Given the description of an element on the screen output the (x, y) to click on. 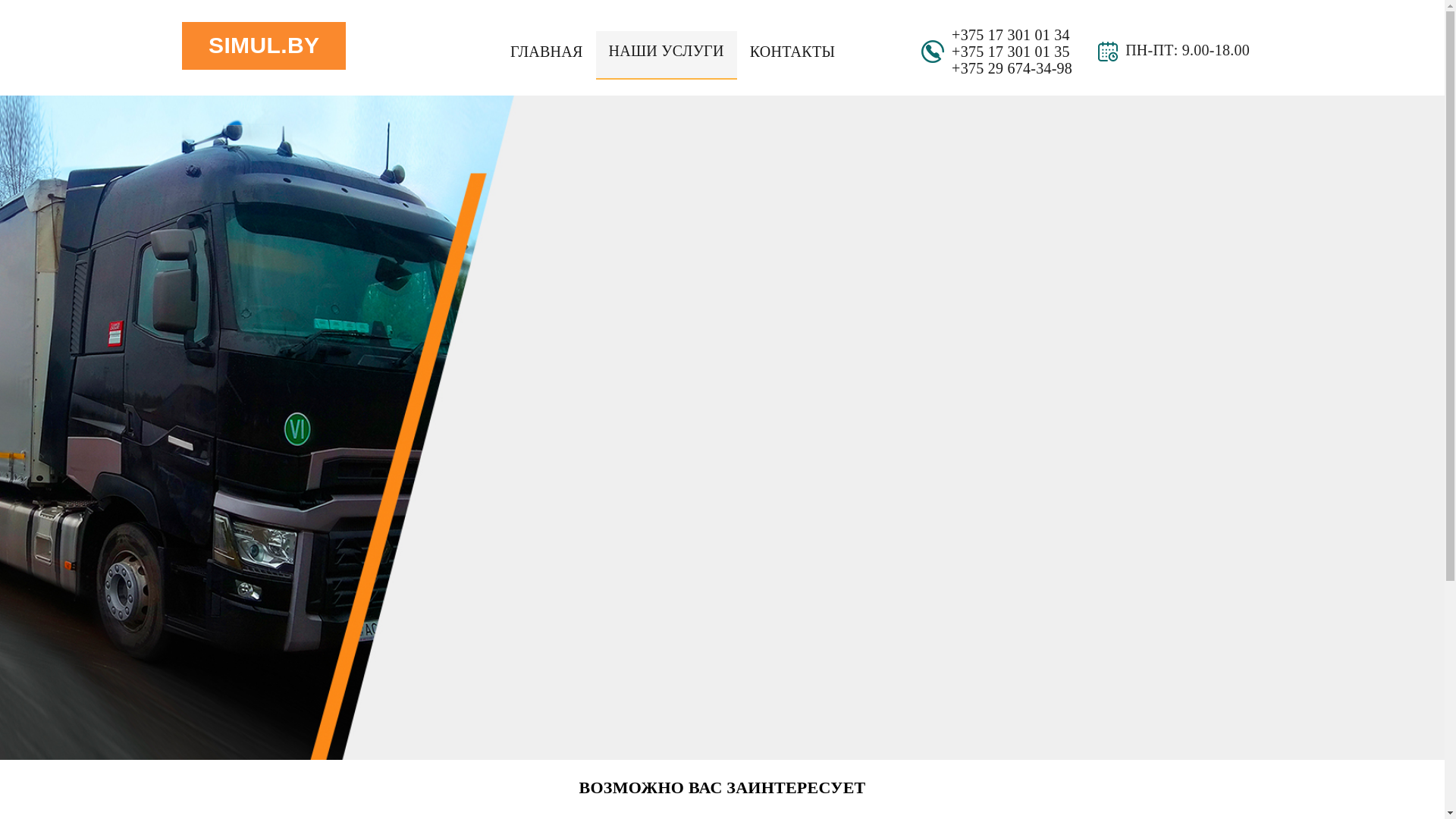
+375 17 301 01 35 Element type: text (1010, 51)
+375 17 301 01 34 Element type: text (1010, 34)
SIMUL.BY Element type: text (263, 45)
+375 29 674-34-98 Element type: text (1011, 67)
